Given the description of an element on the screen output the (x, y) to click on. 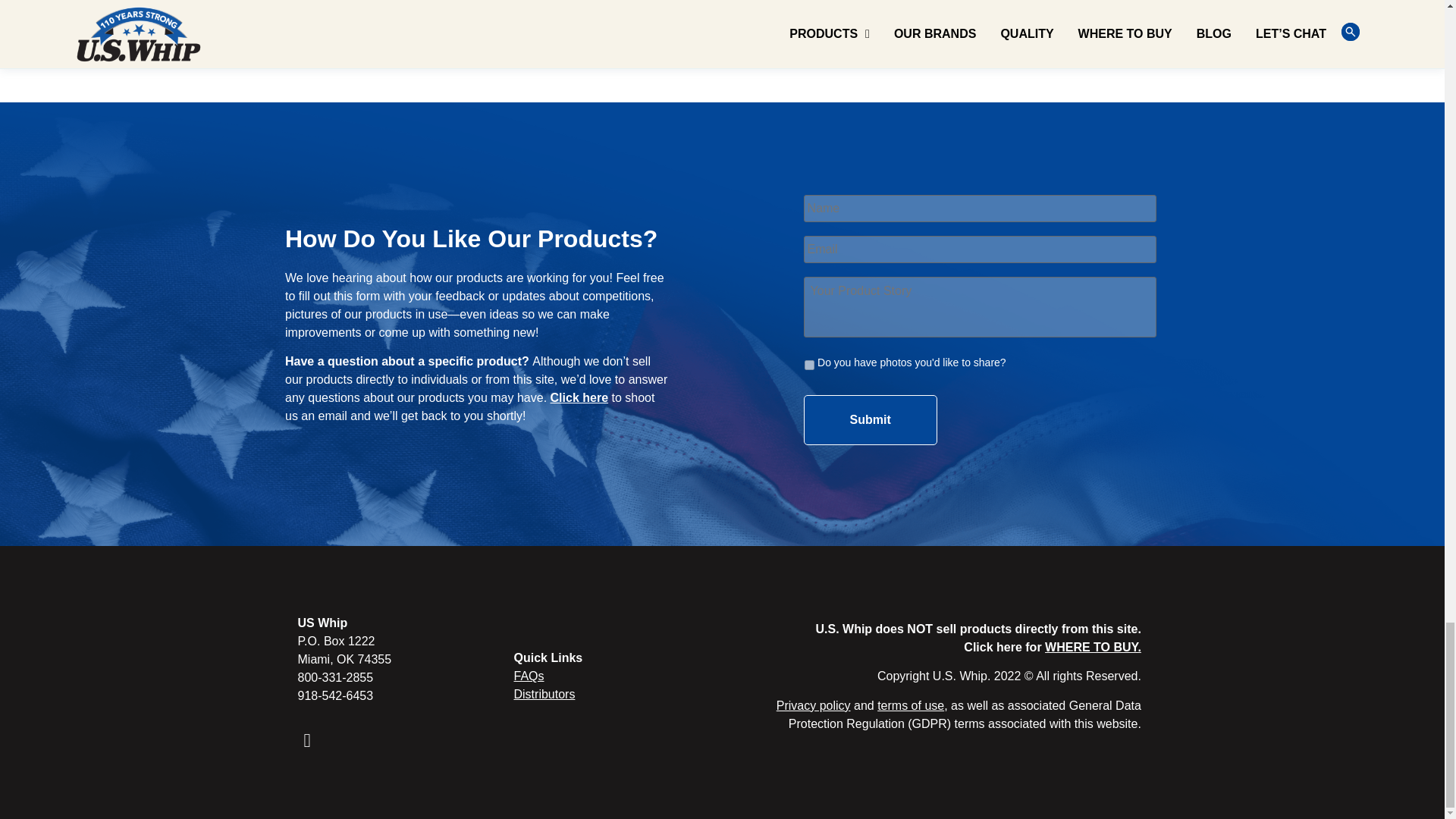
Do you have photos you'd like to share? (809, 365)
Submit (870, 419)
